Given the description of an element on the screen output the (x, y) to click on. 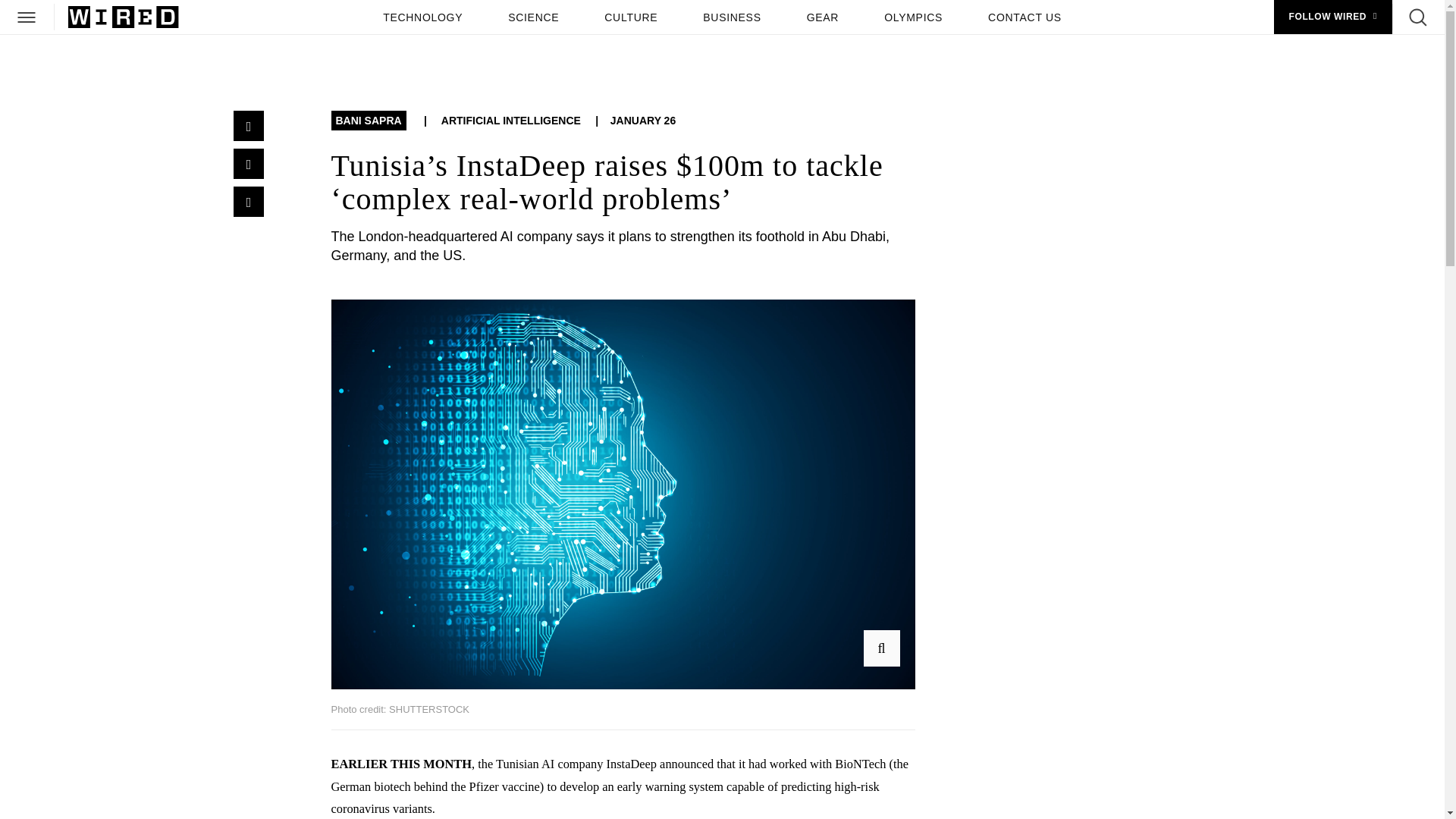
GEAR (822, 17)
OLYMPICS (913, 17)
BANI SAPRA (367, 120)
TECHNOLOGY (422, 17)
Posts by Bani Sapra (367, 120)
CONTACT US (1023, 17)
SCIENCE (533, 17)
BUSINESS (731, 17)
CULTURE (630, 17)
